Given the description of an element on the screen output the (x, y) to click on. 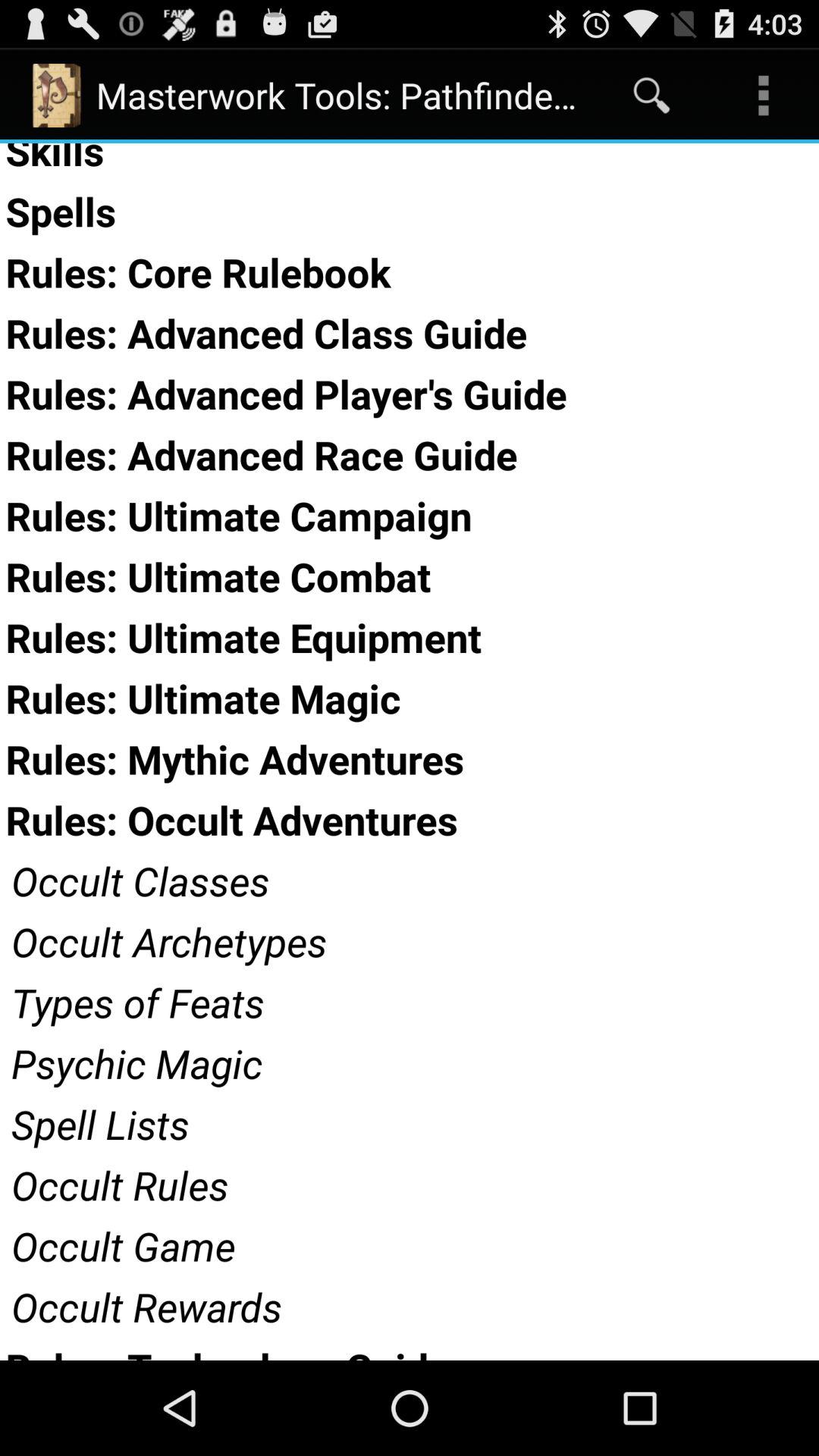
turn on the item next to the masterwork tools pathfinder (651, 95)
